Given the description of an element on the screen output the (x, y) to click on. 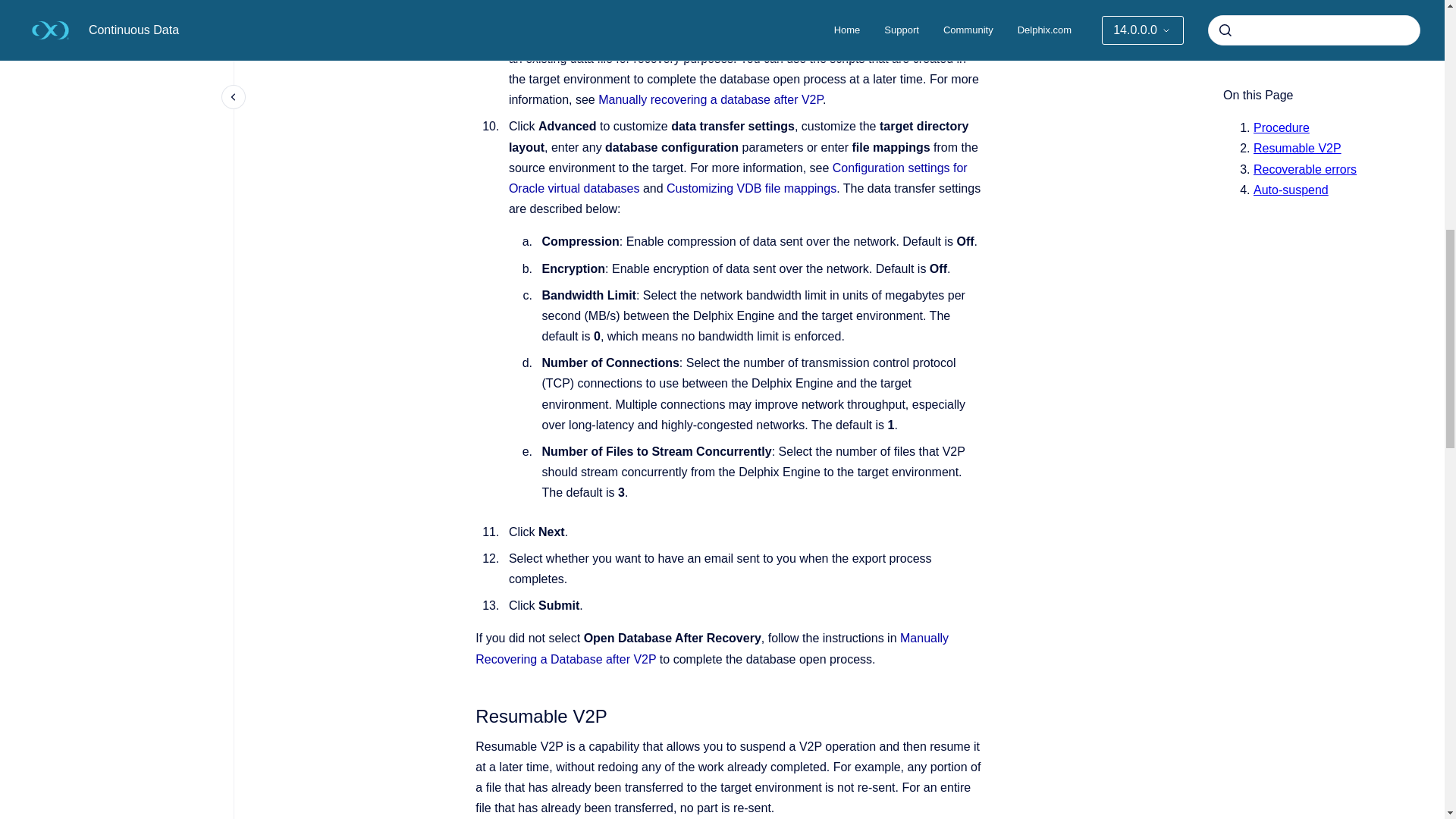
Customizing VDB file mappings (750, 187)
Manually recovering a database after V2P (710, 99)
Manually Recovering a Database after V2P (712, 648)
Configuration settings for Oracle virtual databases (738, 177)
